Given the description of an element on the screen output the (x, y) to click on. 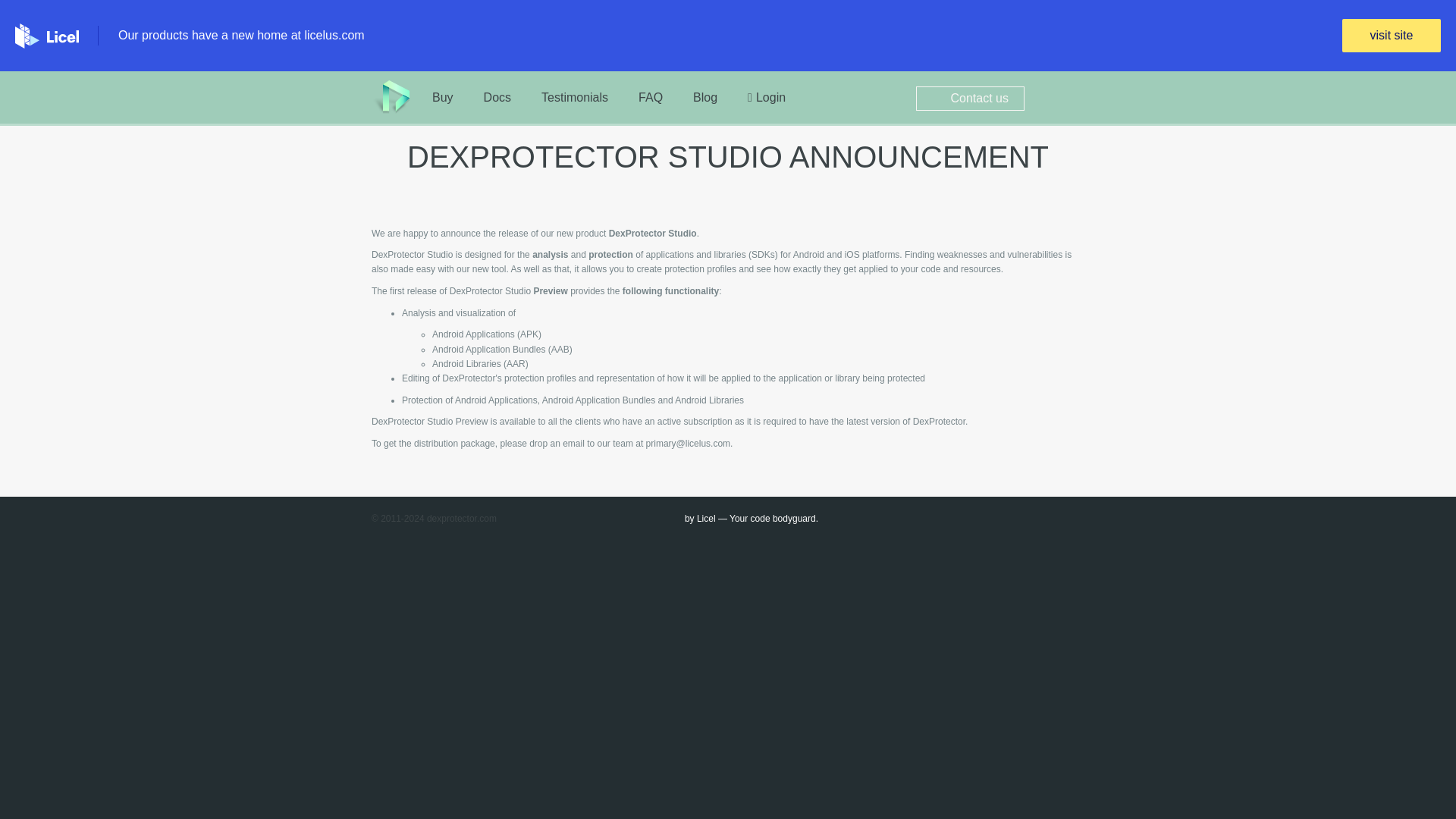
visit site (1391, 35)
Blog (705, 97)
Contact us (970, 97)
Testimonials (574, 97)
licelus.com (334, 34)
Login (766, 97)
Home (390, 97)
FAQ (650, 97)
Docs (496, 97)
